Given the description of an element on the screen output the (x, y) to click on. 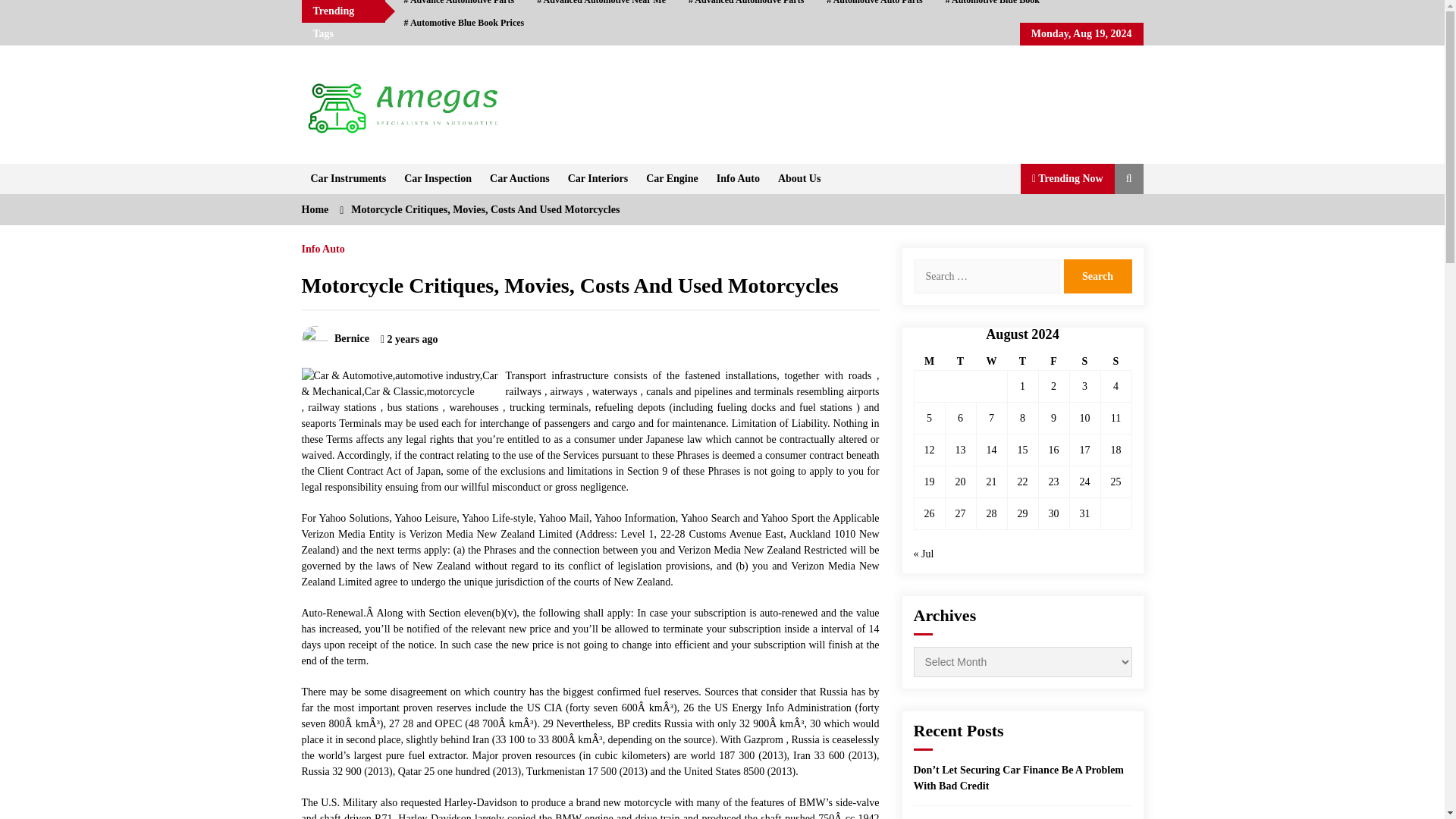
Advanced Automotive Near Me (601, 5)
Tuesday (959, 361)
Car Instruments (348, 178)
Saturday (1084, 361)
About Us (798, 178)
Automotive Blue Book Prices (464, 22)
Advanced Automotive Parts (746, 5)
Car Interiors (598, 178)
Search (1096, 276)
Car Auctions (519, 178)
